Given the description of an element on the screen output the (x, y) to click on. 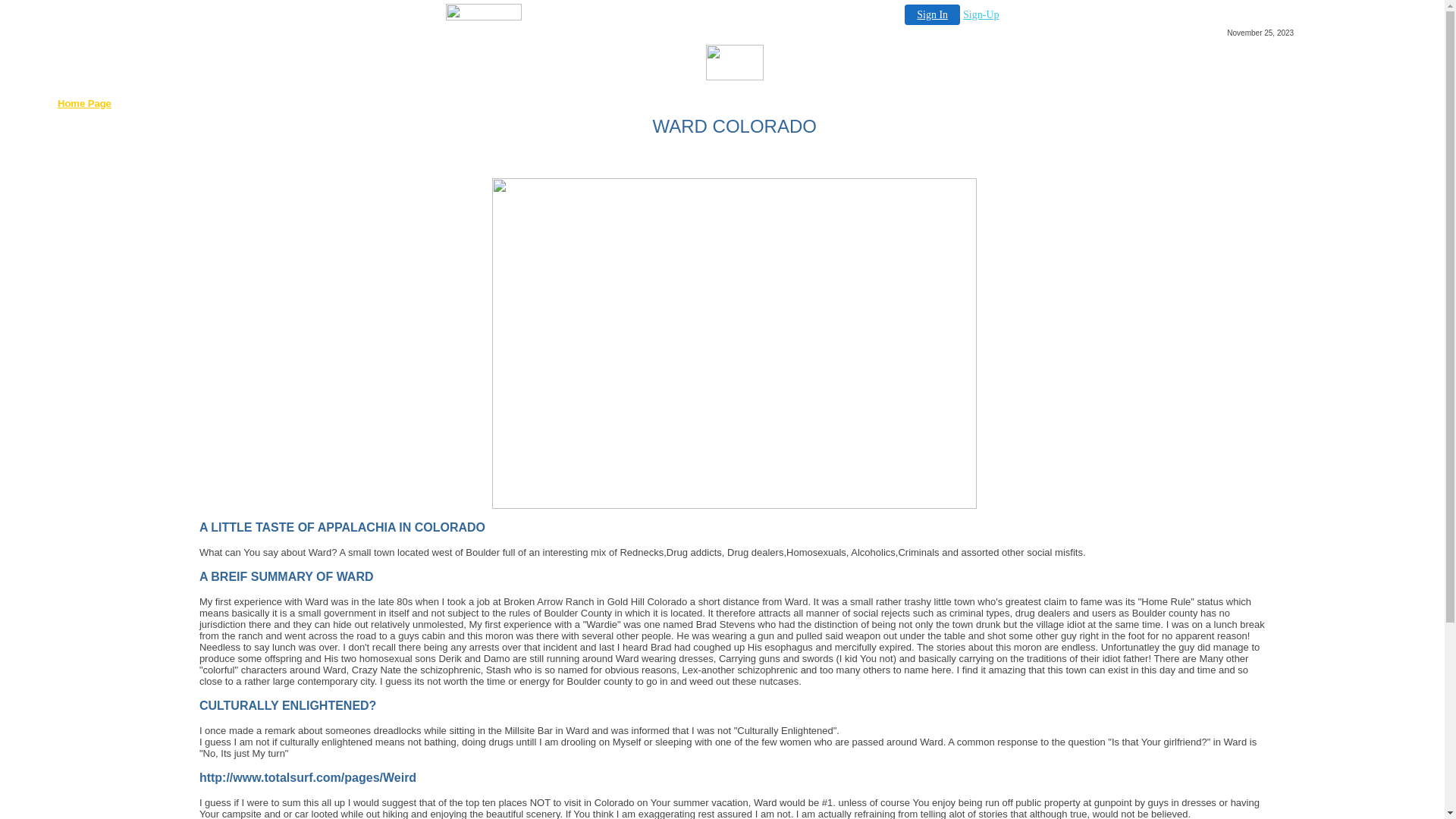
Sign-Up Element type: text (980, 14)
Sign In Element type: text (932, 14)
Home Page Element type: text (84, 103)
